Given the description of an element on the screen output the (x, y) to click on. 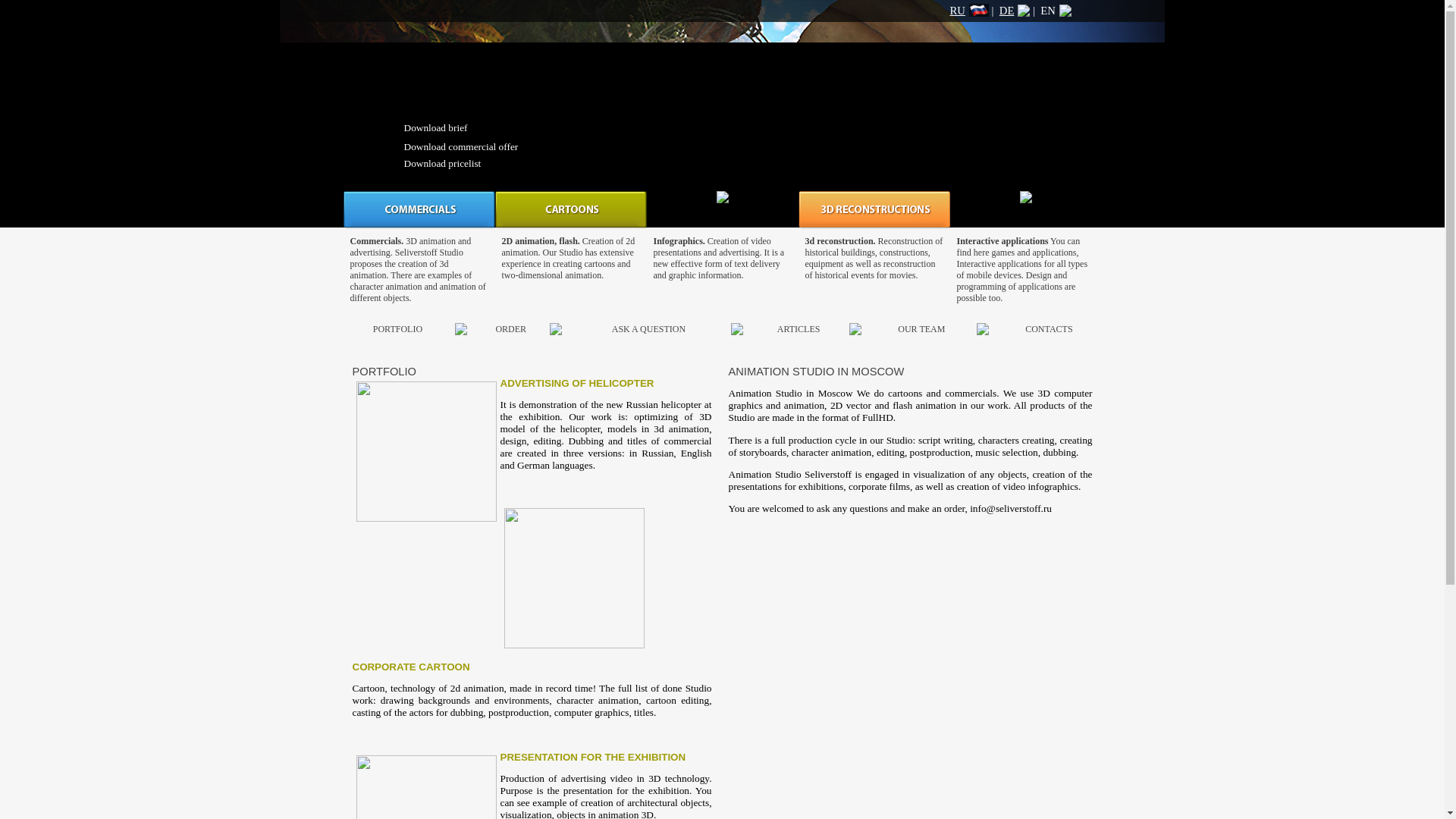
Download brief (435, 127)
Portfolio (397, 328)
Download commercial offer (460, 146)
EN (1056, 10)
ARTICLES (799, 328)
DE (1014, 10)
ORDER (510, 328)
Download pricelist (441, 163)
Our team (921, 328)
ASK A QUESTION (648, 328)
